Given the description of an element on the screen output the (x, y) to click on. 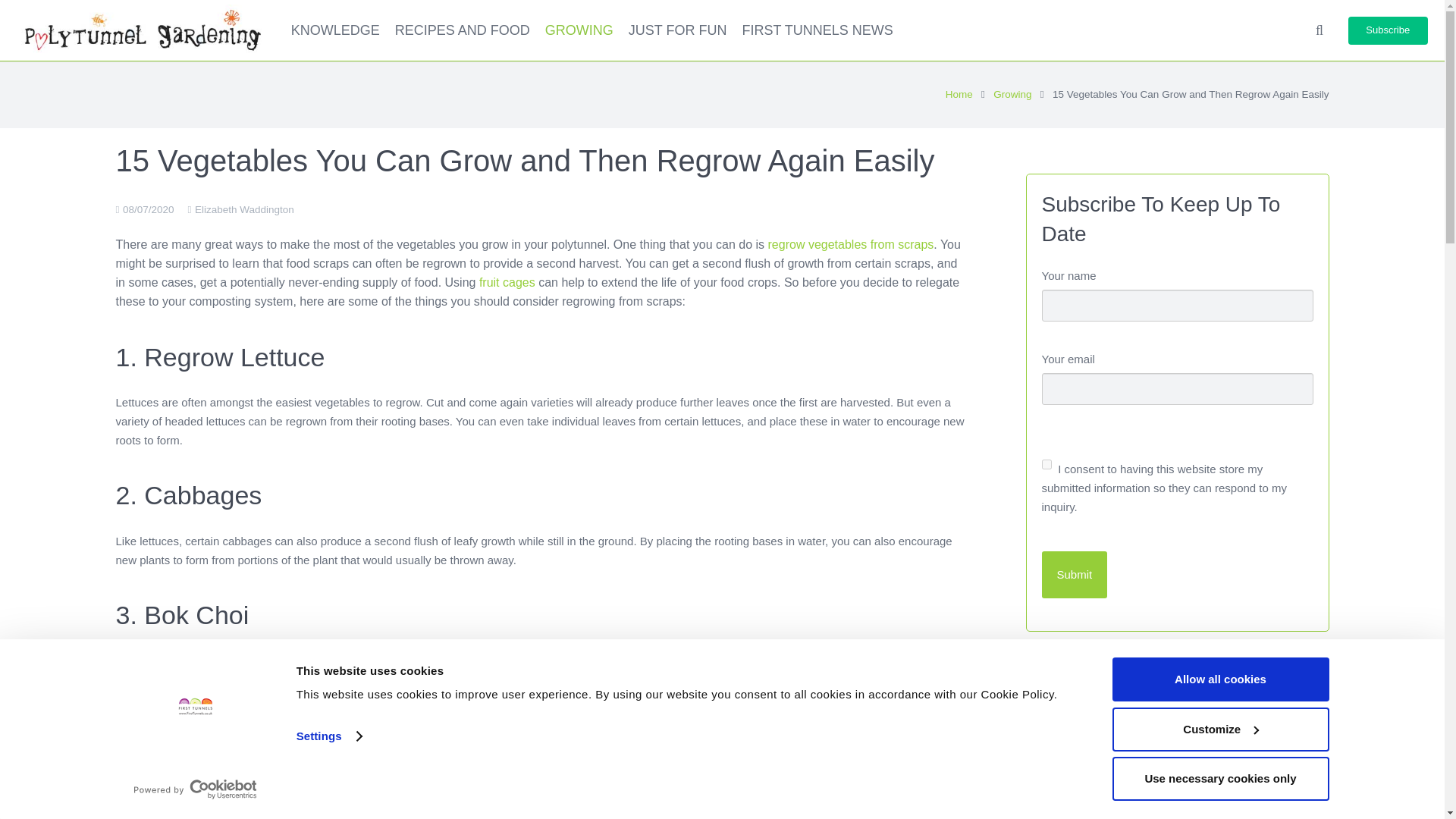
Customize (1219, 728)
Submit (1075, 574)
Allow all cookies (1219, 679)
Use necessary cookies only (1219, 778)
Settings (329, 735)
